Given the description of an element on the screen output the (x, y) to click on. 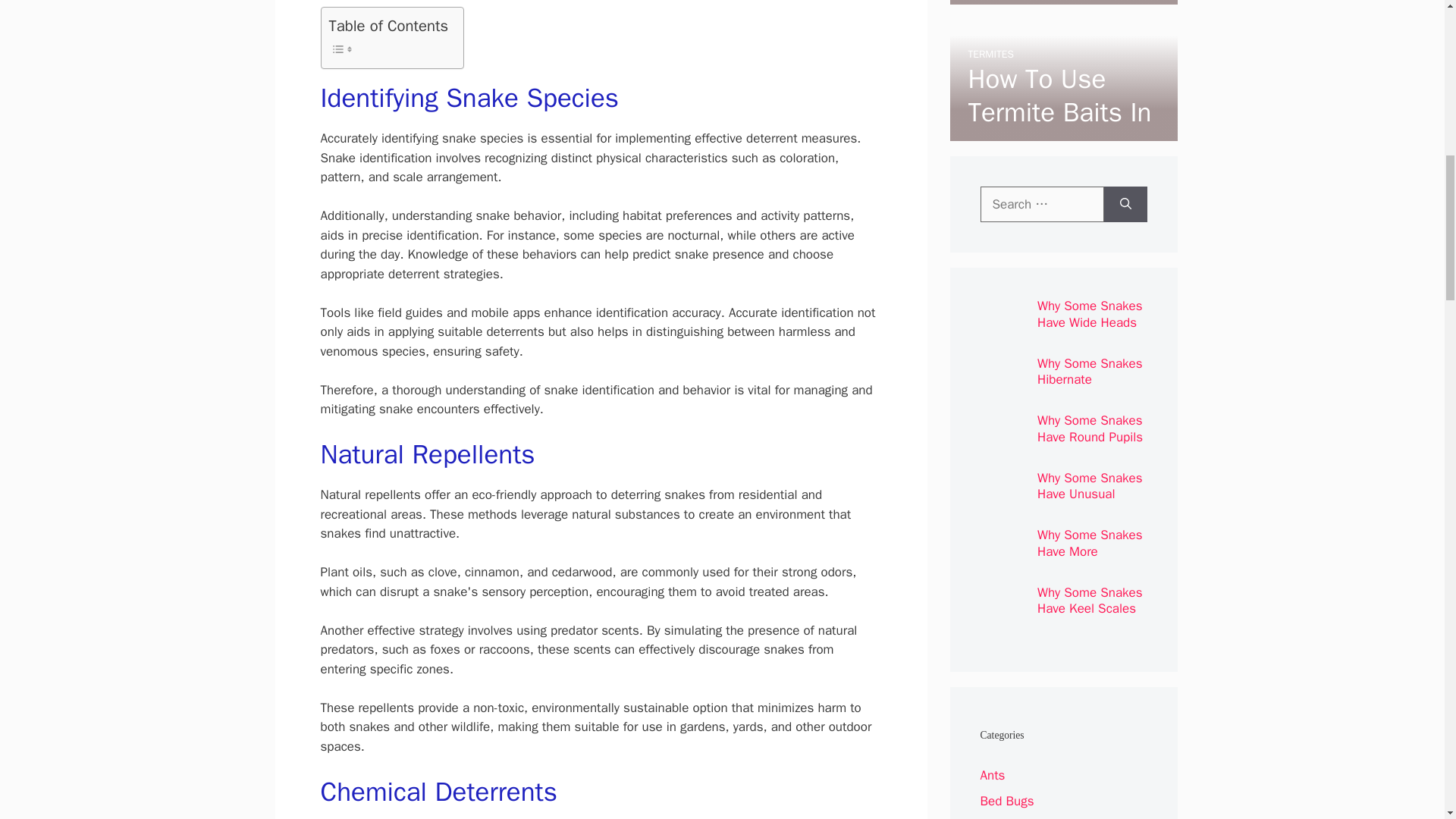
Why Some Snakes Have Wide Heads (1089, 314)
TERMITES (990, 53)
How To Use Termite Baits In Garden Beds (1059, 112)
How to Get Rid of Fleas With Kids (1054, 13)
